Given the description of an element on the screen output the (x, y) to click on. 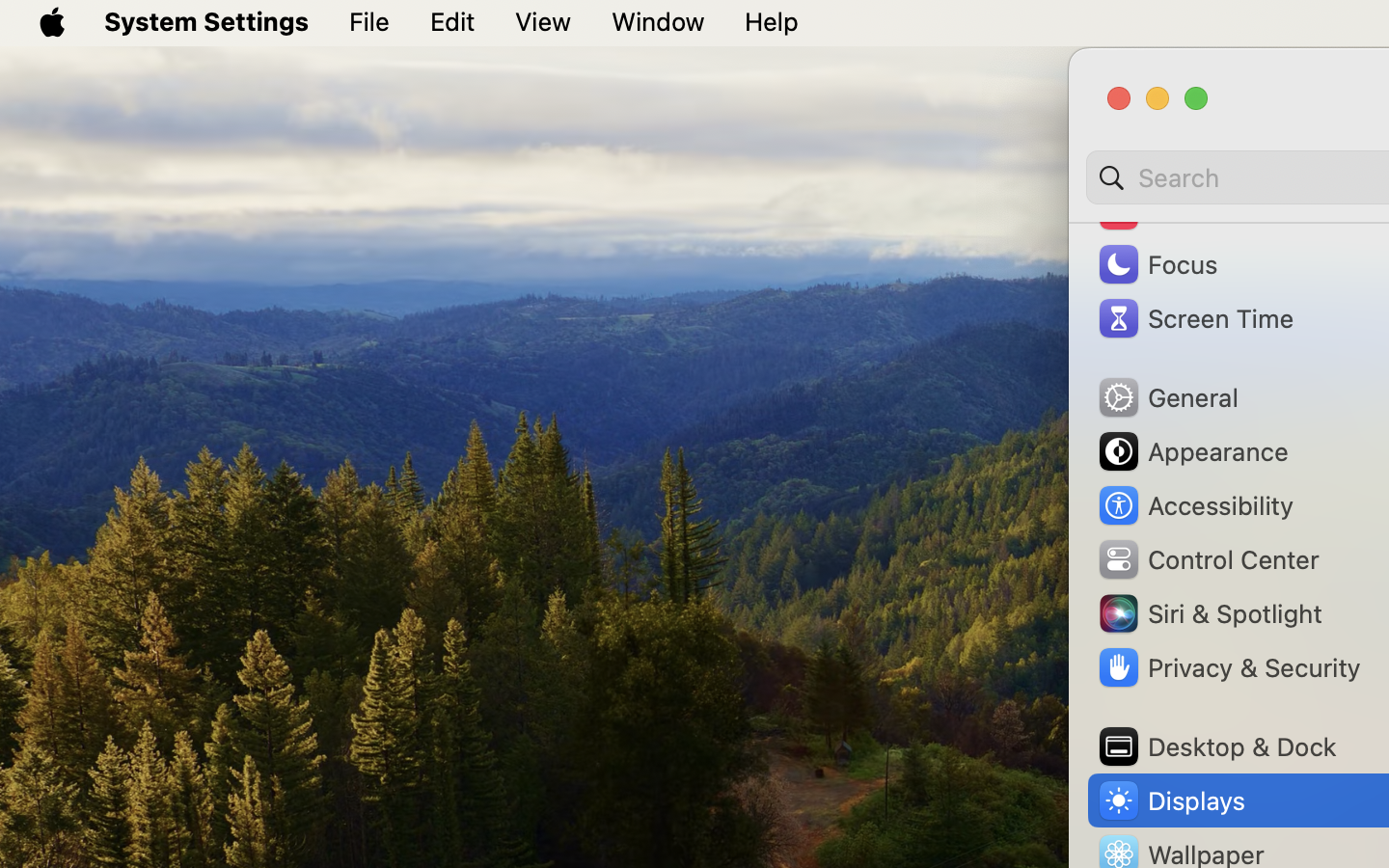
Accessibility Element type: AXStaticText (1194, 505)
Desktop & Dock Element type: AXStaticText (1215, 746)
General Element type: AXStaticText (1166, 397)
Focus Element type: AXStaticText (1156, 264)
Sound Element type: AXStaticText (1159, 210)
